Given the description of an element on the screen output the (x, y) to click on. 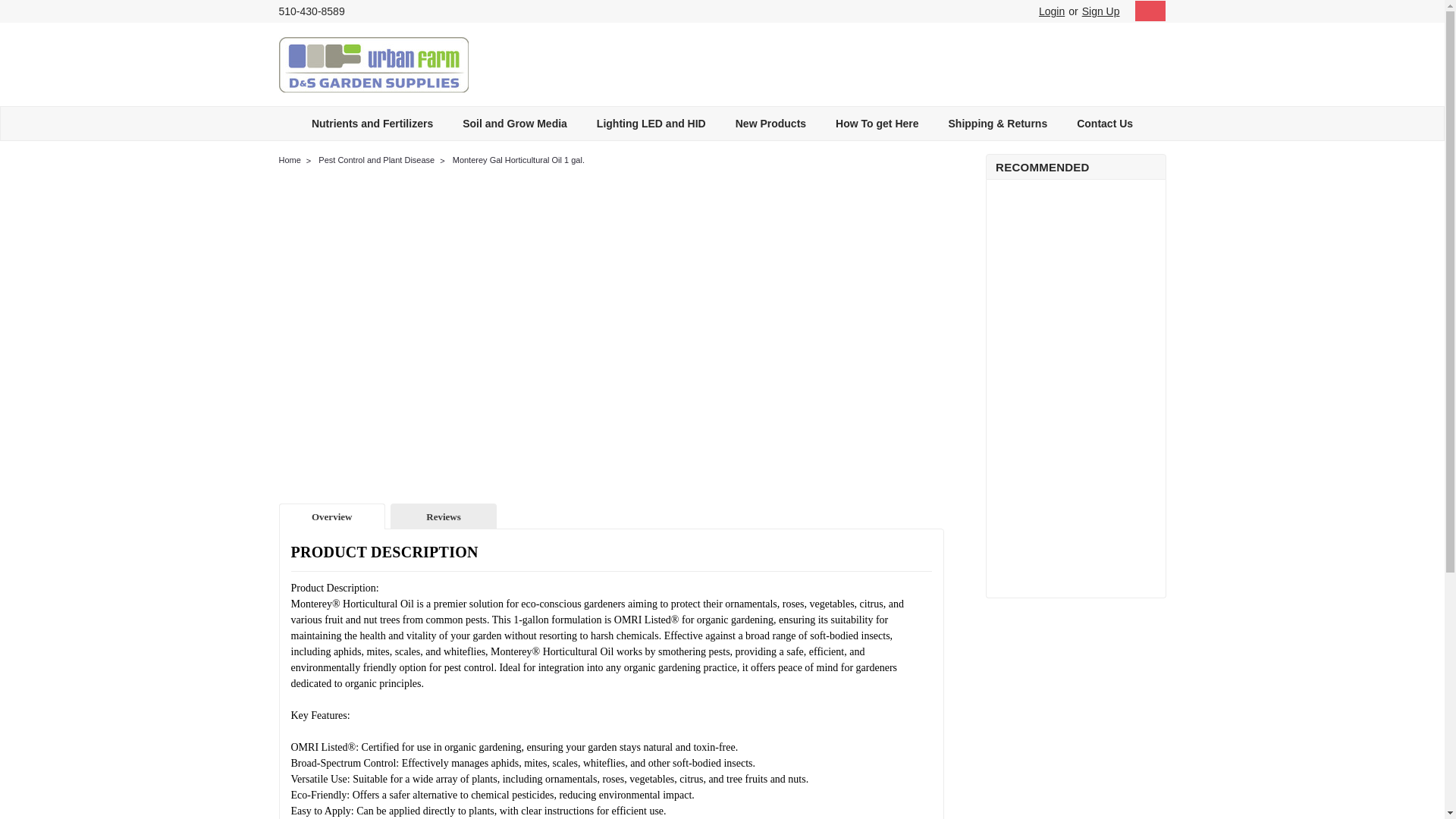
DS Urban Farm DS Garden Supplies (373, 63)
Sign Up (1098, 11)
Login (1051, 11)
